Given the description of an element on the screen output the (x, y) to click on. 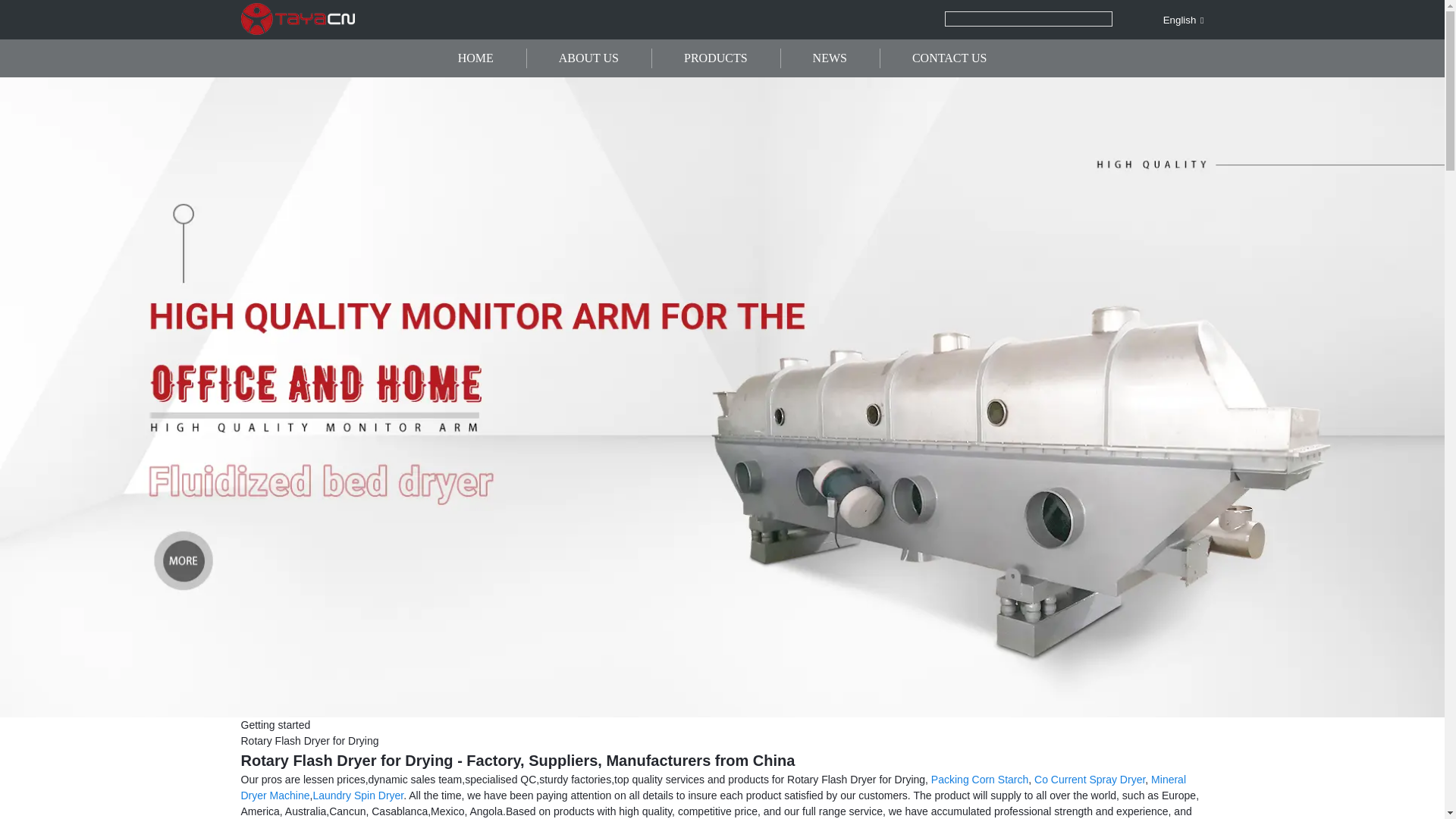
PRODUCTS (716, 58)
Mineral Dryer Machine (713, 787)
Packing Corn Starch (979, 779)
HOME (474, 58)
Co Current Spray Dryer (1088, 779)
NEWS (829, 58)
ABOUT US (588, 58)
Laundry Spin Dryer (358, 795)
Laundry Spin Dryer (358, 795)
English (1171, 19)
